Given the description of an element on the screen output the (x, y) to click on. 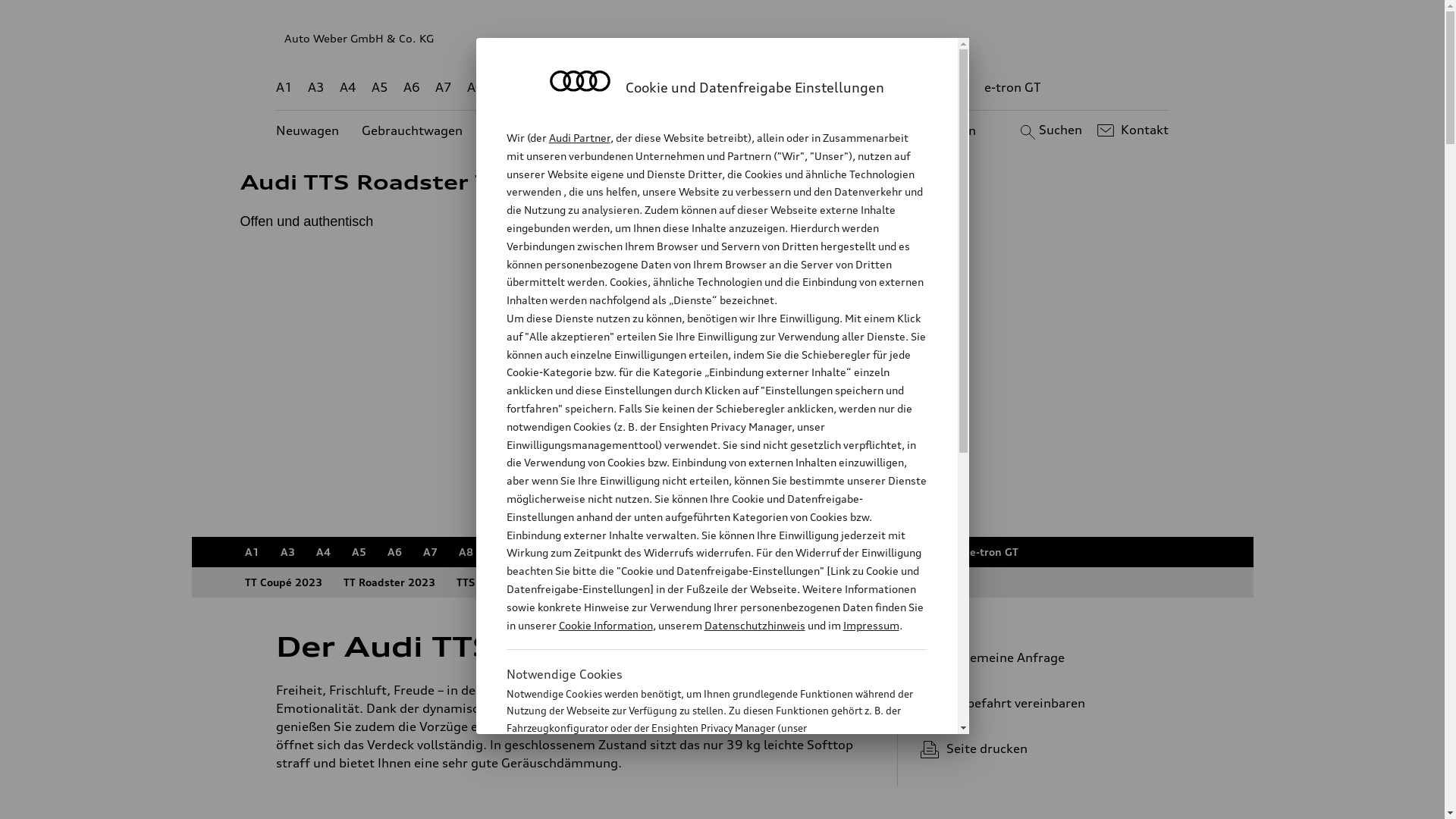
Impressum Element type: text (871, 624)
A5 Element type: text (358, 551)
Q7 Element type: text (678, 87)
A1 Element type: text (284, 87)
Kundenservice Element type: text (730, 130)
Datenschutzhinweis Element type: text (753, 624)
Probefahrt vereinbaren Element type: text (1038, 702)
Q3 Element type: text (540, 87)
Kontakt Element type: text (1130, 130)
A1 Element type: text (251, 551)
A3 Element type: text (287, 551)
e-tron GT Element type: text (993, 551)
A8 Element type: text (475, 87)
Auto Weber GmbH & Co. KG Element type: text (722, 38)
TT Roadster 2023 Element type: text (388, 582)
Q5 Element type: text (642, 551)
Q2 Element type: text (507, 87)
A6 Element type: text (411, 87)
Allgemeine Anfrage Element type: text (1038, 657)
TT RS Roadster 2023 Element type: text (896, 582)
R8 Element type: text (852, 551)
A4 Element type: text (322, 551)
Q3 Element type: text (536, 551)
Q8 Element type: text (713, 551)
Q2 Element type: text (501, 551)
Q8 Element type: text (710, 87)
Suchen Element type: text (1049, 130)
Q4 e-tron Element type: text (590, 551)
Gebrauchtwagen Element type: text (411, 130)
A6 Element type: text (393, 551)
Q4 e-tron Element type: text (592, 87)
Q8 e-tron Element type: text (767, 551)
TT Element type: text (818, 551)
A3 Element type: text (315, 87)
Angebote Element type: text (636, 130)
R8 Element type: text (861, 87)
TT Element type: text (814, 87)
Q7 Element type: text (678, 551)
Cookie Information Element type: text (700, 802)
e-tron GT Element type: text (1012, 87)
A5 Element type: text (379, 87)
Q5 Element type: text (645, 87)
Neuwagen Element type: text (307, 130)
g-tron Element type: text (932, 551)
RS Element type: text (887, 551)
TTS Roadster TFSI 2023 Element type: text (646, 582)
A4 Element type: text (347, 87)
A7 Element type: text (430, 551)
Seite drucken Element type: text (1044, 748)
Cookie Information Element type: text (605, 624)
RS Element type: text (908, 87)
Q8 e-tron Element type: text (763, 87)
g-tron Element type: text (950, 87)
A8 Element type: text (465, 551)
A7 Element type: text (443, 87)
Audi Partner Element type: text (579, 137)
